Given the description of an element on the screen output the (x, y) to click on. 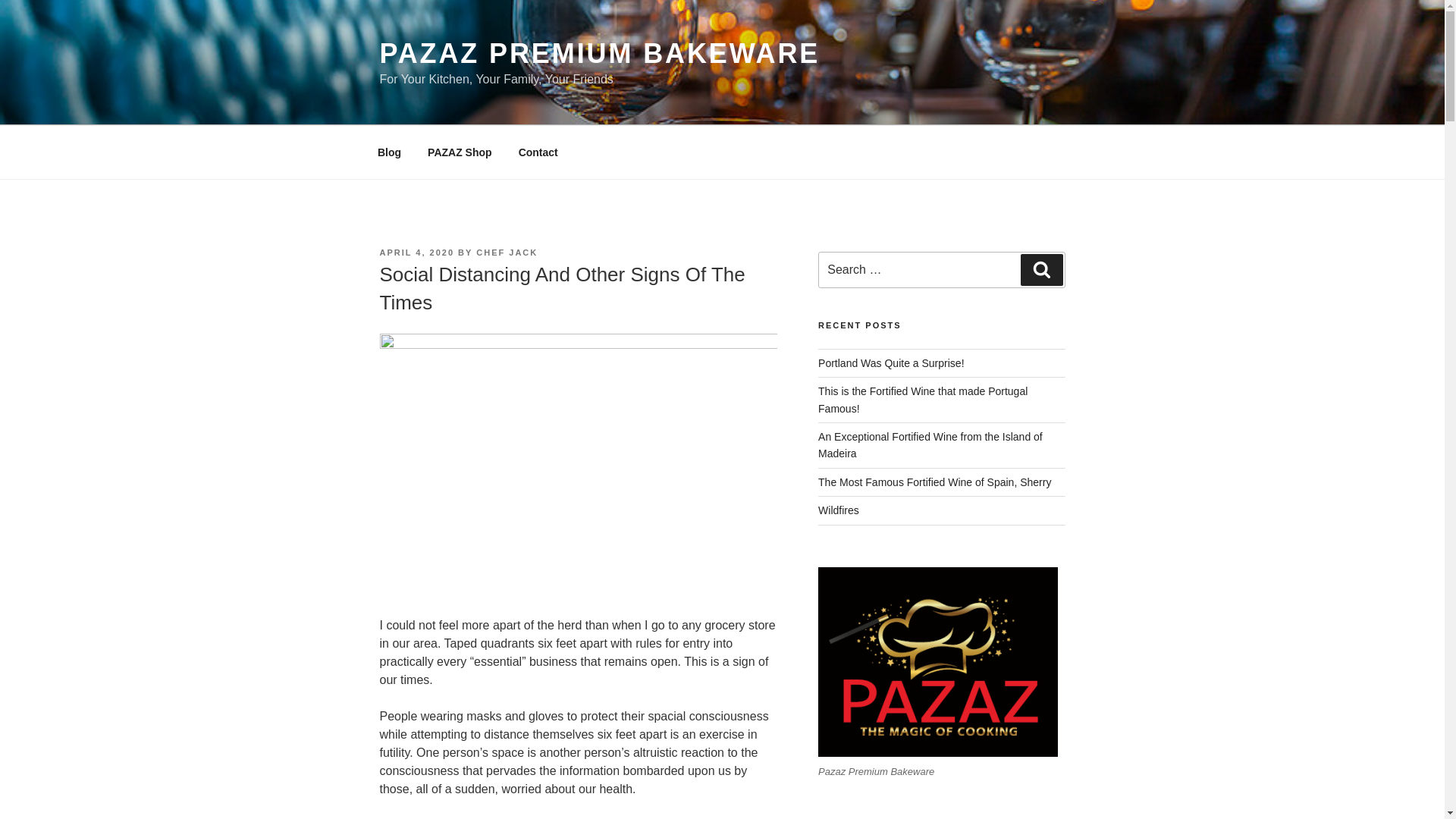
Wildfires (838, 510)
APRIL 4, 2020 (416, 252)
Contact (537, 151)
The Most Famous Fortified Wine of Spain, Sherry (934, 481)
Blog (388, 151)
Portland Was Quite a Surprise! (890, 363)
Search (1041, 269)
PAZAZ PREMIUM BAKEWARE (598, 52)
PAZAZ Shop (459, 151)
